Given the description of an element on the screen output the (x, y) to click on. 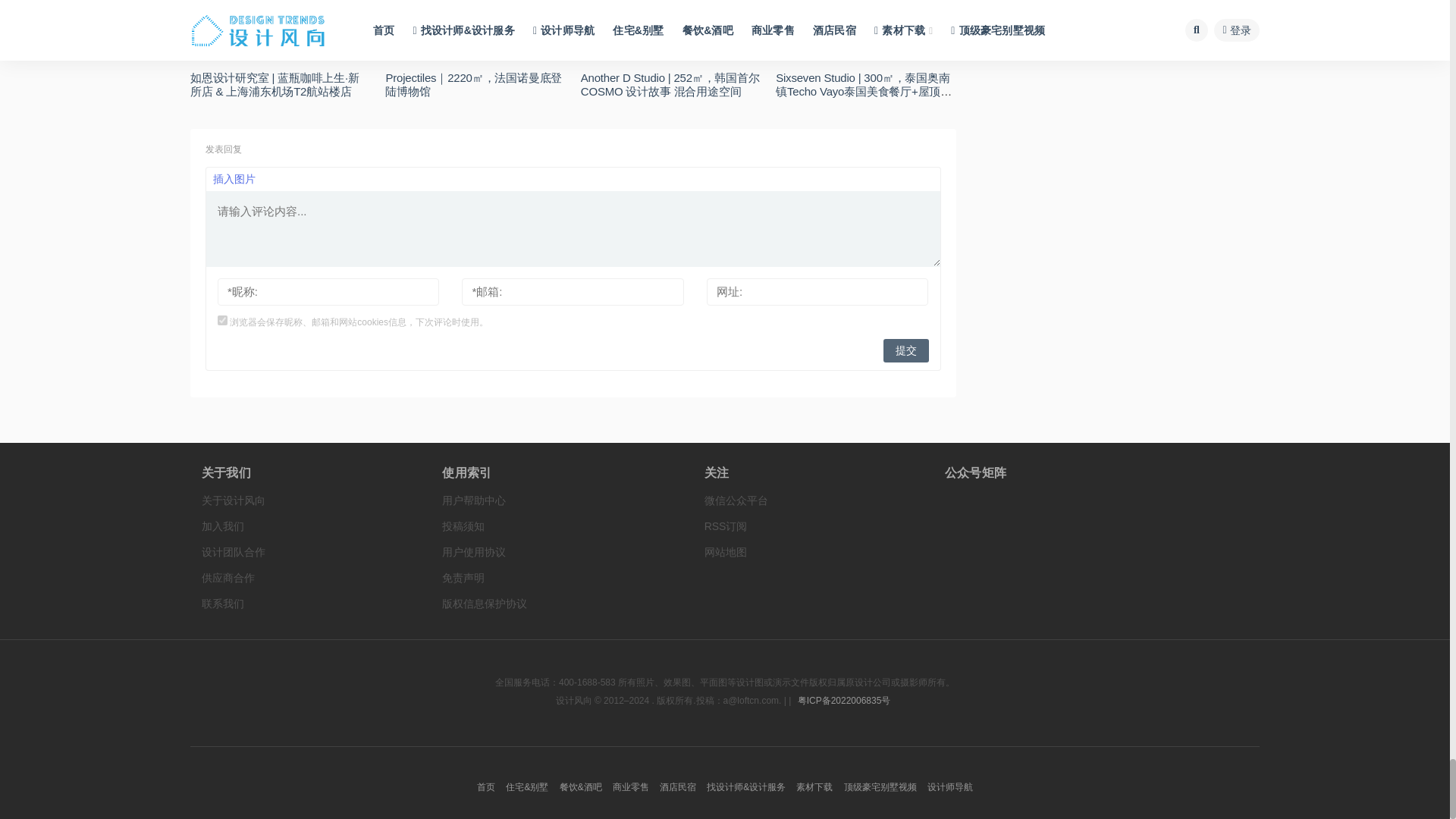
yes (221, 320)
